Given the description of an element on the screen output the (x, y) to click on. 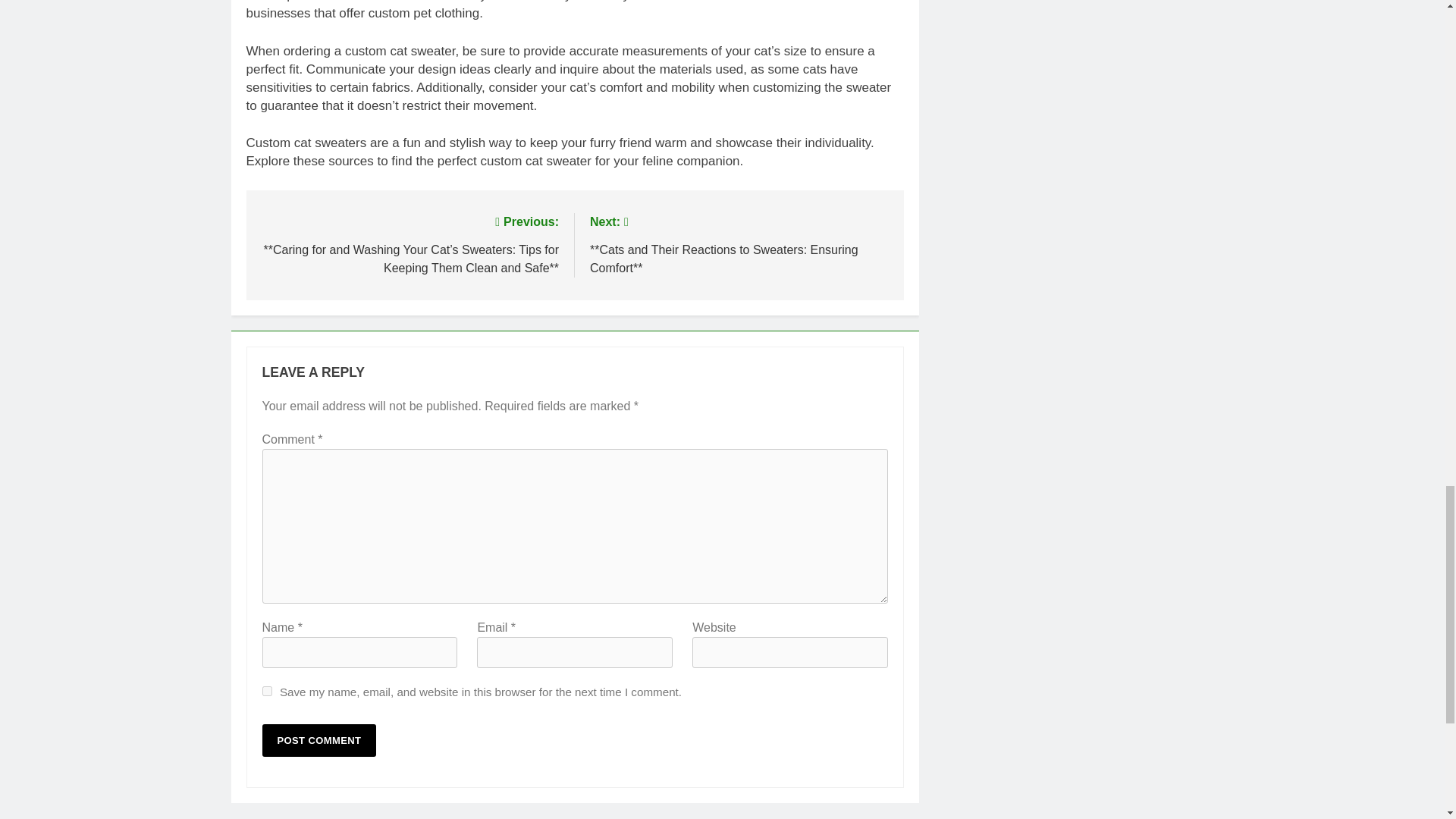
Post Comment (319, 739)
yes (267, 691)
